Given the description of an element on the screen output the (x, y) to click on. 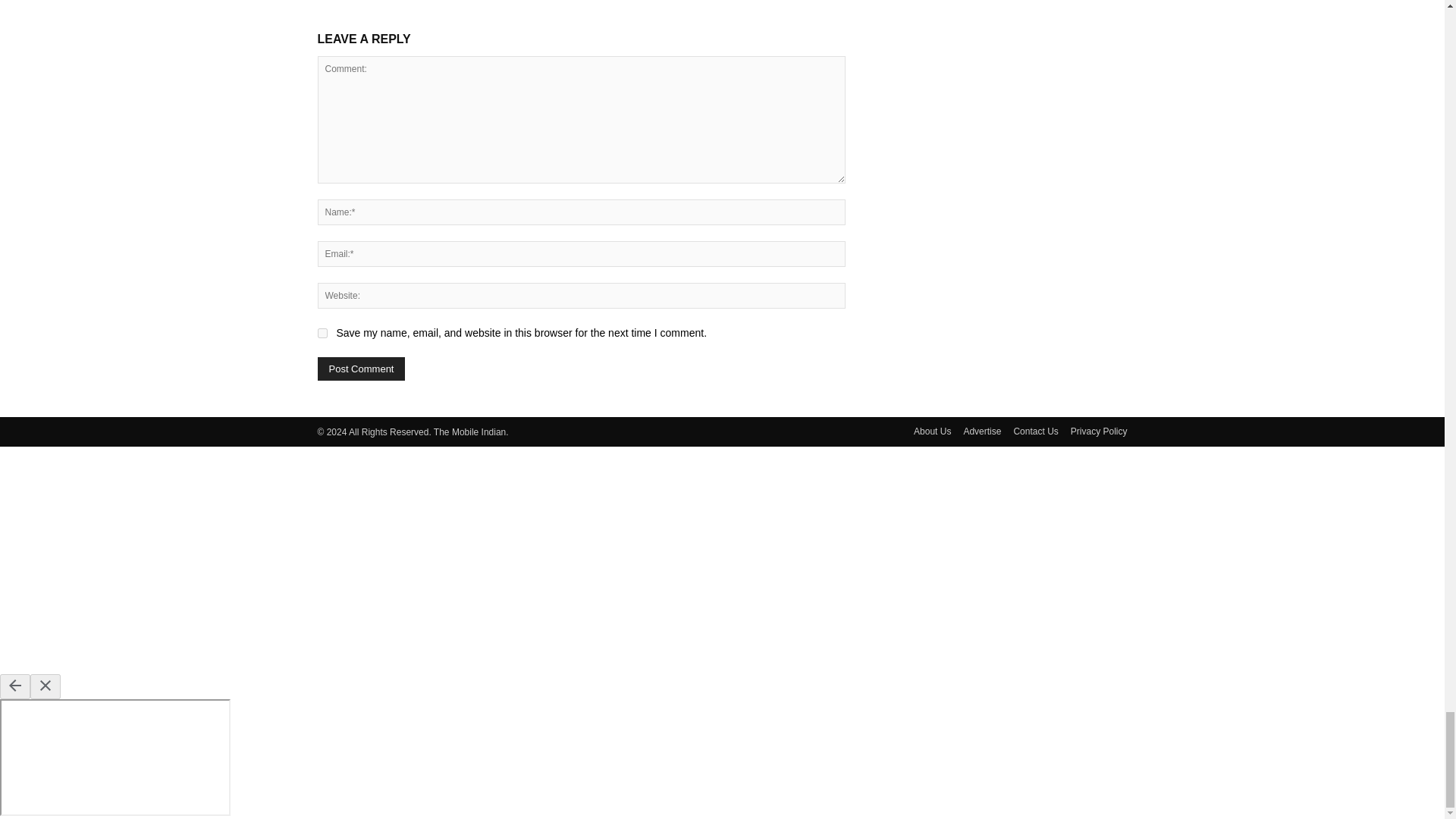
Post Comment (360, 368)
yes (321, 333)
